Given the description of an element on the screen output the (x, y) to click on. 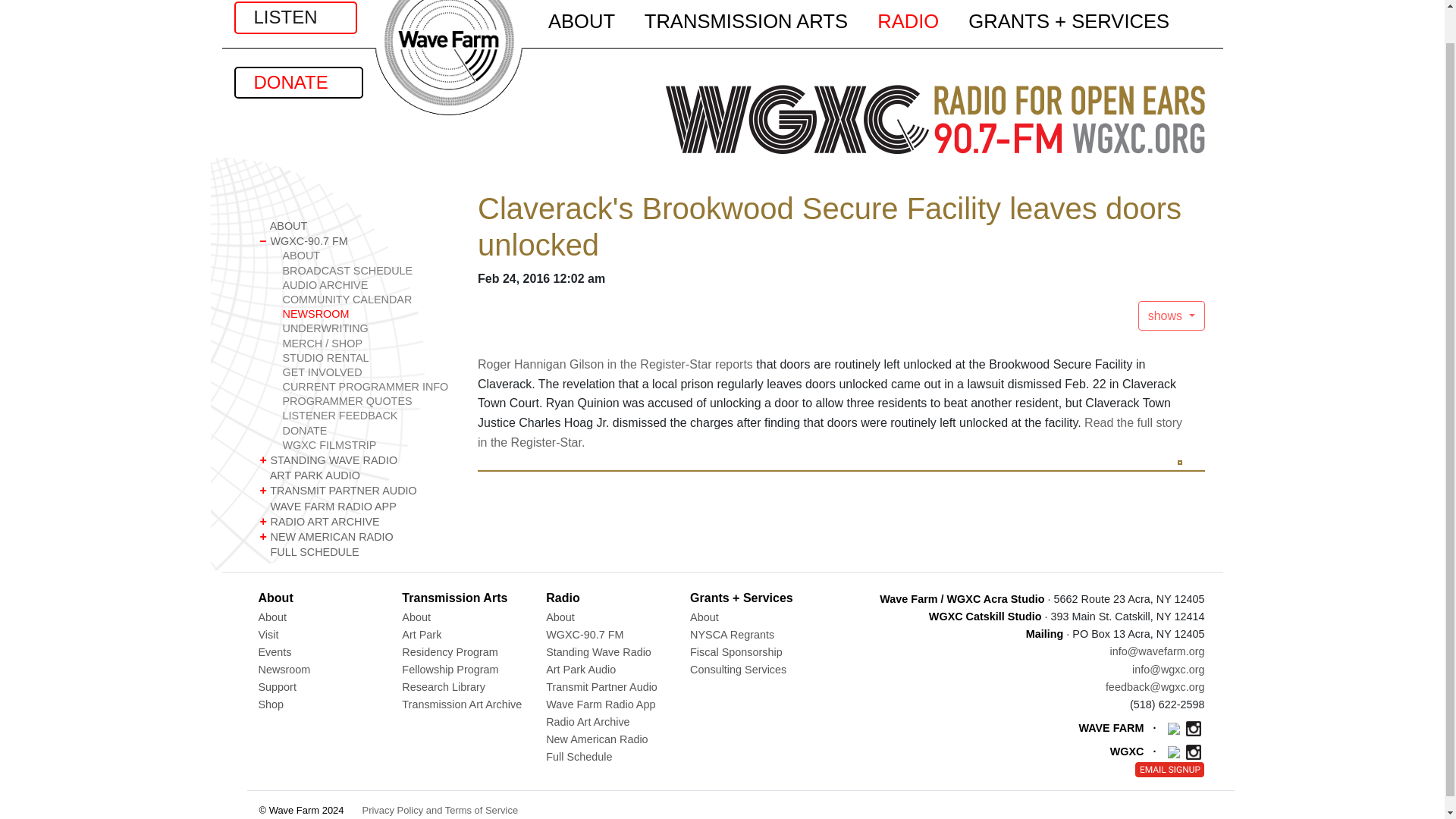
ABOUT (367, 255)
BROADCAST SCHEDULE (367, 270)
LISTEN     (294, 17)
  ABOUT (355, 225)
DONATE    (297, 82)
